Given the description of an element on the screen output the (x, y) to click on. 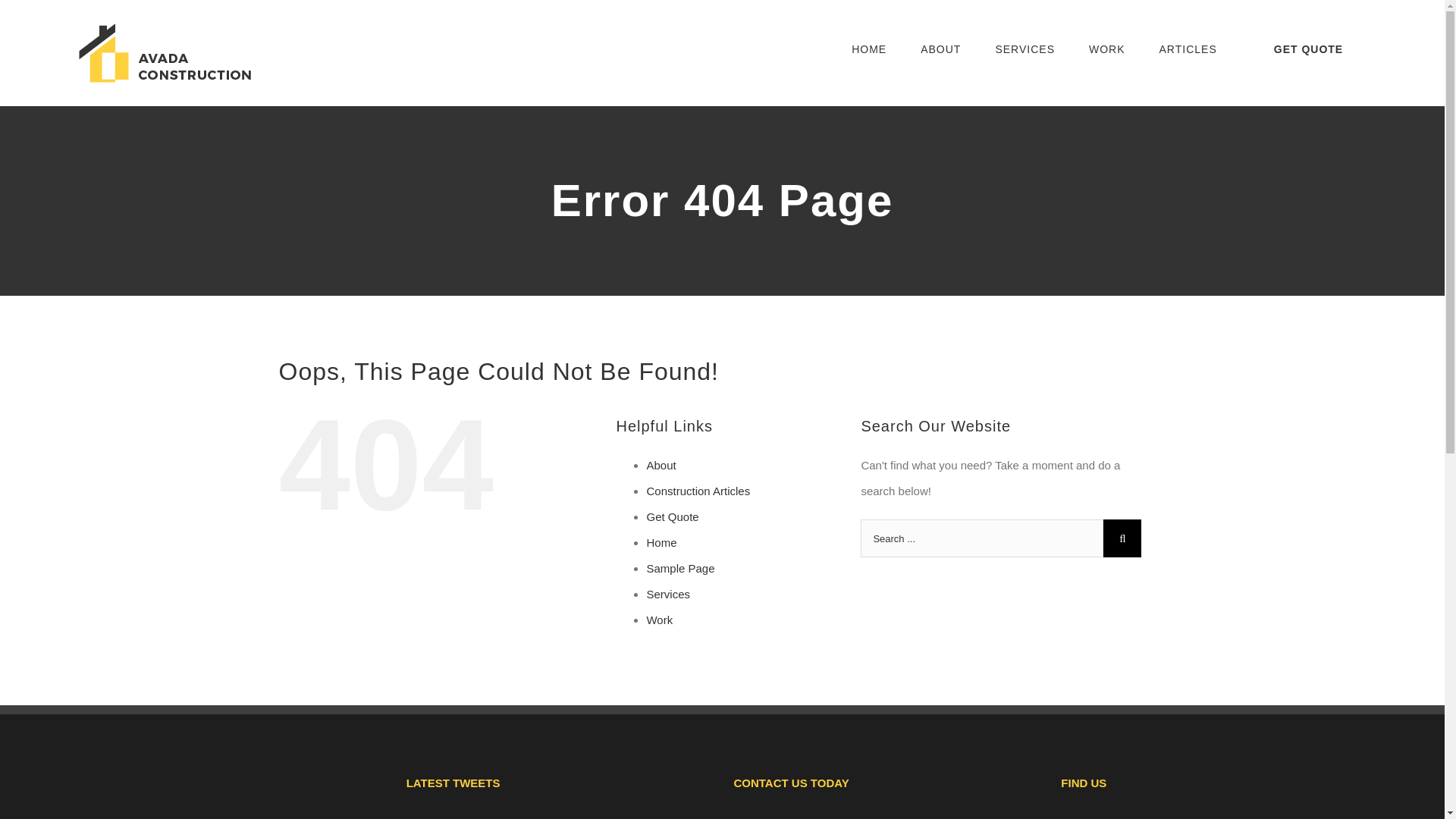
About (660, 464)
GET QUOTE (1307, 49)
Work (659, 619)
Construction Articles (697, 490)
Services (668, 594)
Home (661, 542)
Get Quote (672, 516)
Sample Page (680, 567)
